Given the description of an element on the screen output the (x, y) to click on. 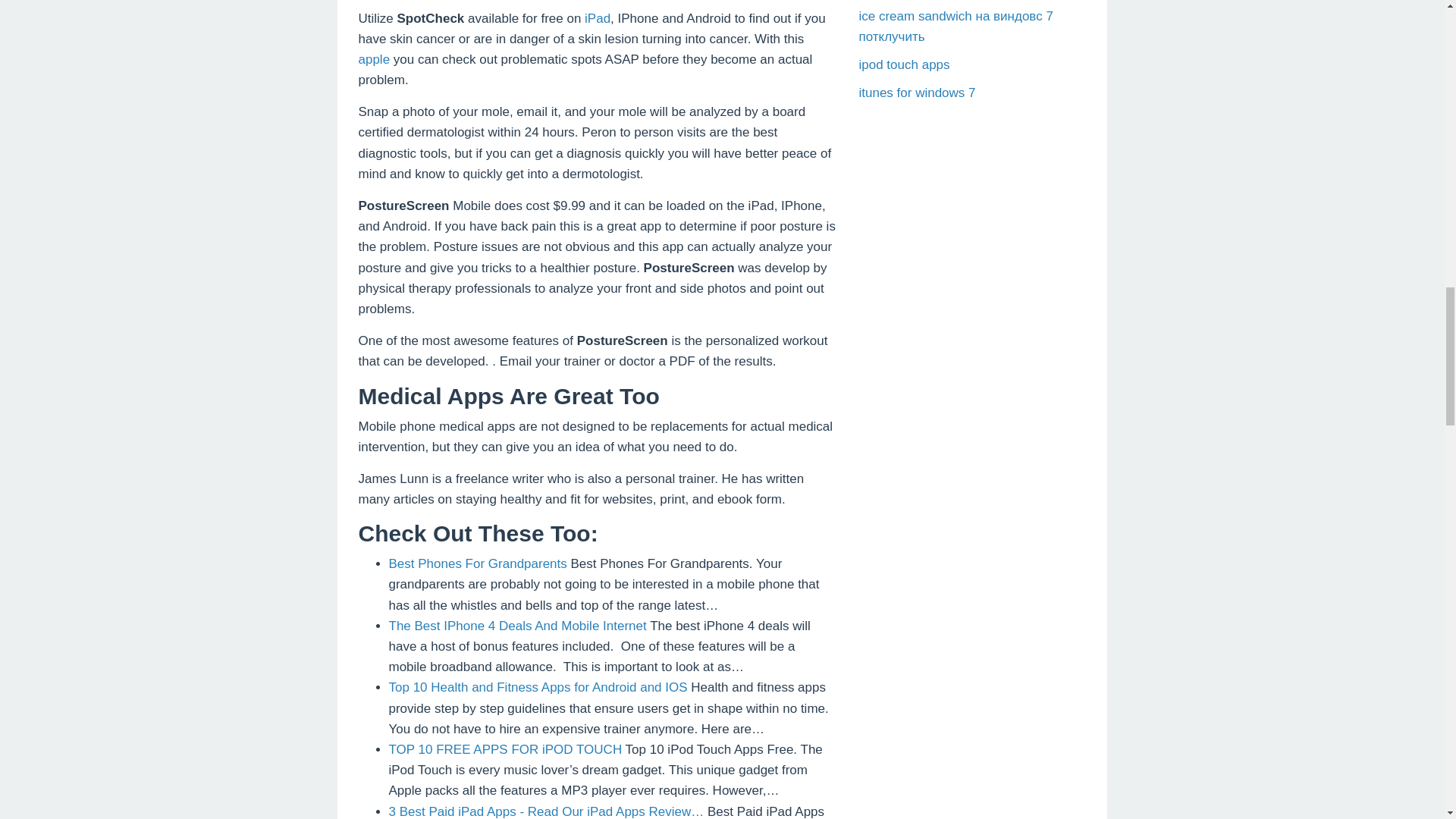
iPad (597, 18)
apple (374, 59)
Best Phones For Grandparents (477, 563)
The Best IPhone 4 Deals And Mobile Internet (517, 626)
Top 10 Health and Fitness Apps for Android and IOS (537, 687)
